Given the description of an element on the screen output the (x, y) to click on. 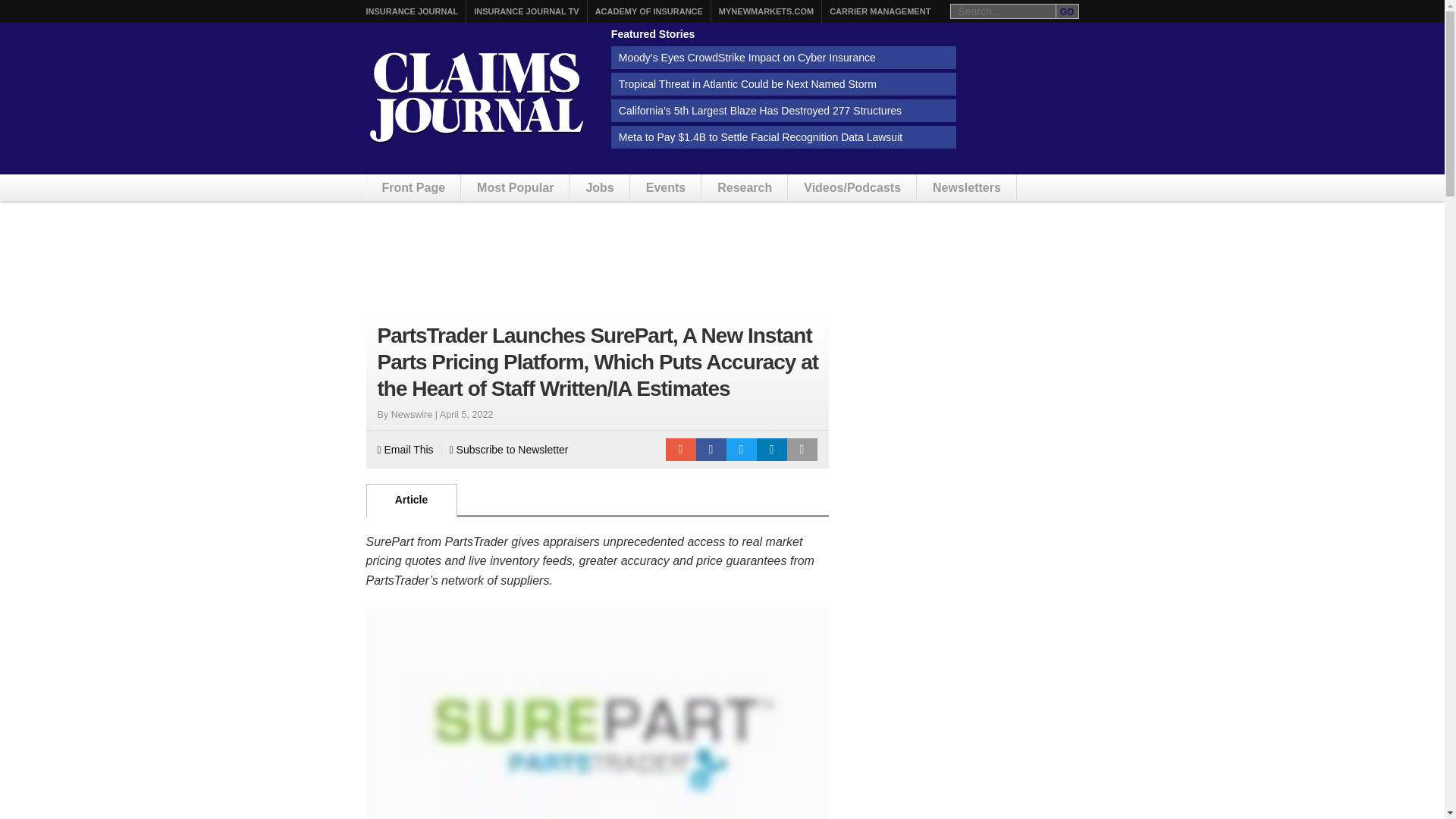
LinkedIn (772, 449)
Email to a friend (680, 449)
Subscribe to Newsletter (509, 449)
Go (1066, 11)
Email to a friend (680, 449)
Article (411, 500)
INSURANCE JOURNAL TV (526, 11)
Events (665, 187)
ACADEMY OF INSURANCE (649, 11)
Tweet (741, 449)
